Given the description of an element on the screen output the (x, y) to click on. 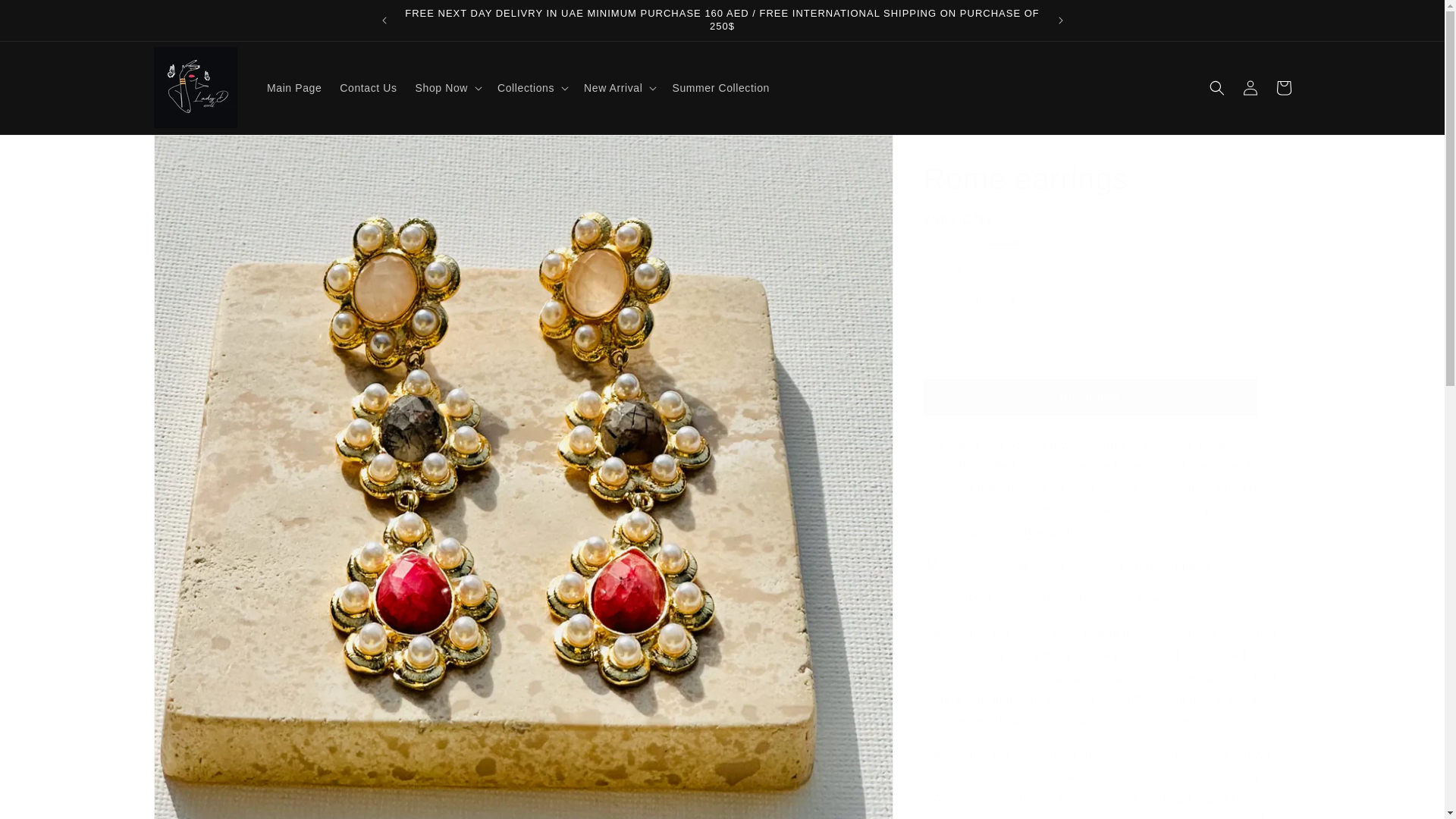
Skip to content (45, 17)
1 (976, 298)
